Given the description of an element on the screen output the (x, y) to click on. 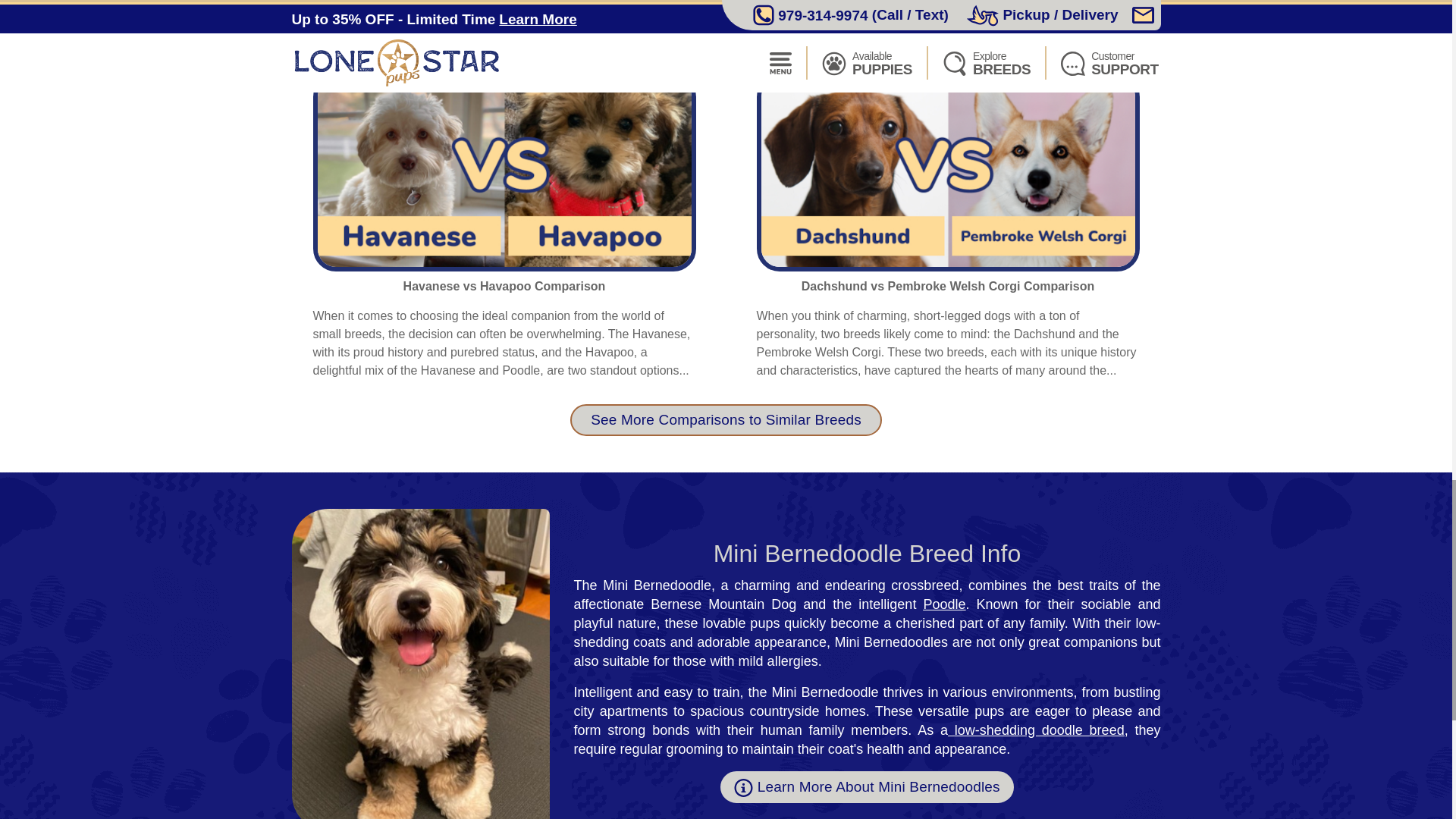
Havanese vs Havapoo Comparison (504, 286)
Learn More About Mini Bernedoodles (866, 787)
low-shedding doodle breed (1039, 729)
Dachshund vs Pembroke Welsh Corgi Comparison (948, 286)
Poodle (944, 604)
See More Comparisons to Similar Breeds (726, 419)
